Given the description of an element on the screen output the (x, y) to click on. 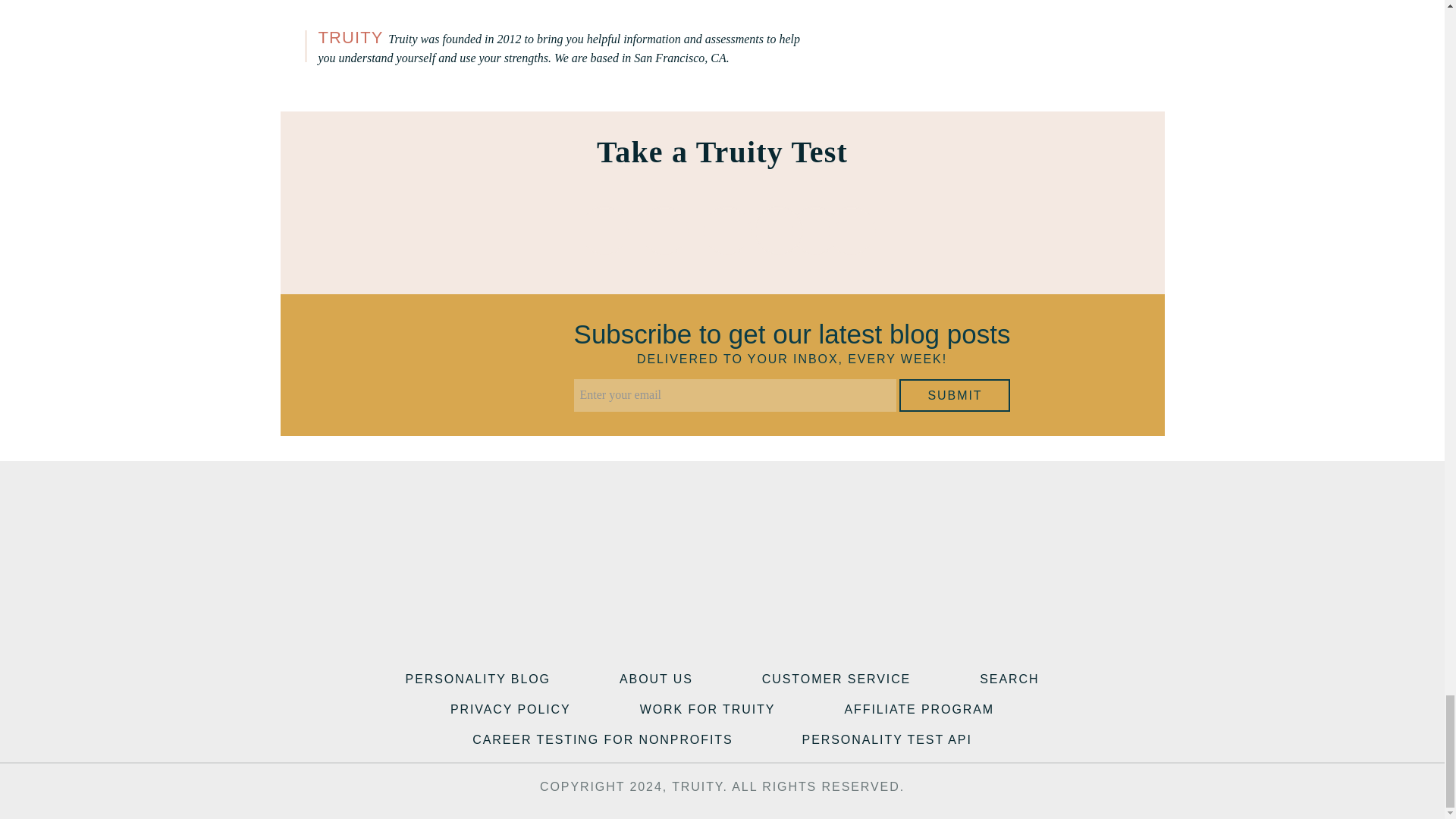
Home (721, 527)
Facebook (648, 616)
Twitter (684, 616)
YouTube (721, 616)
